Given the description of an element on the screen output the (x, y) to click on. 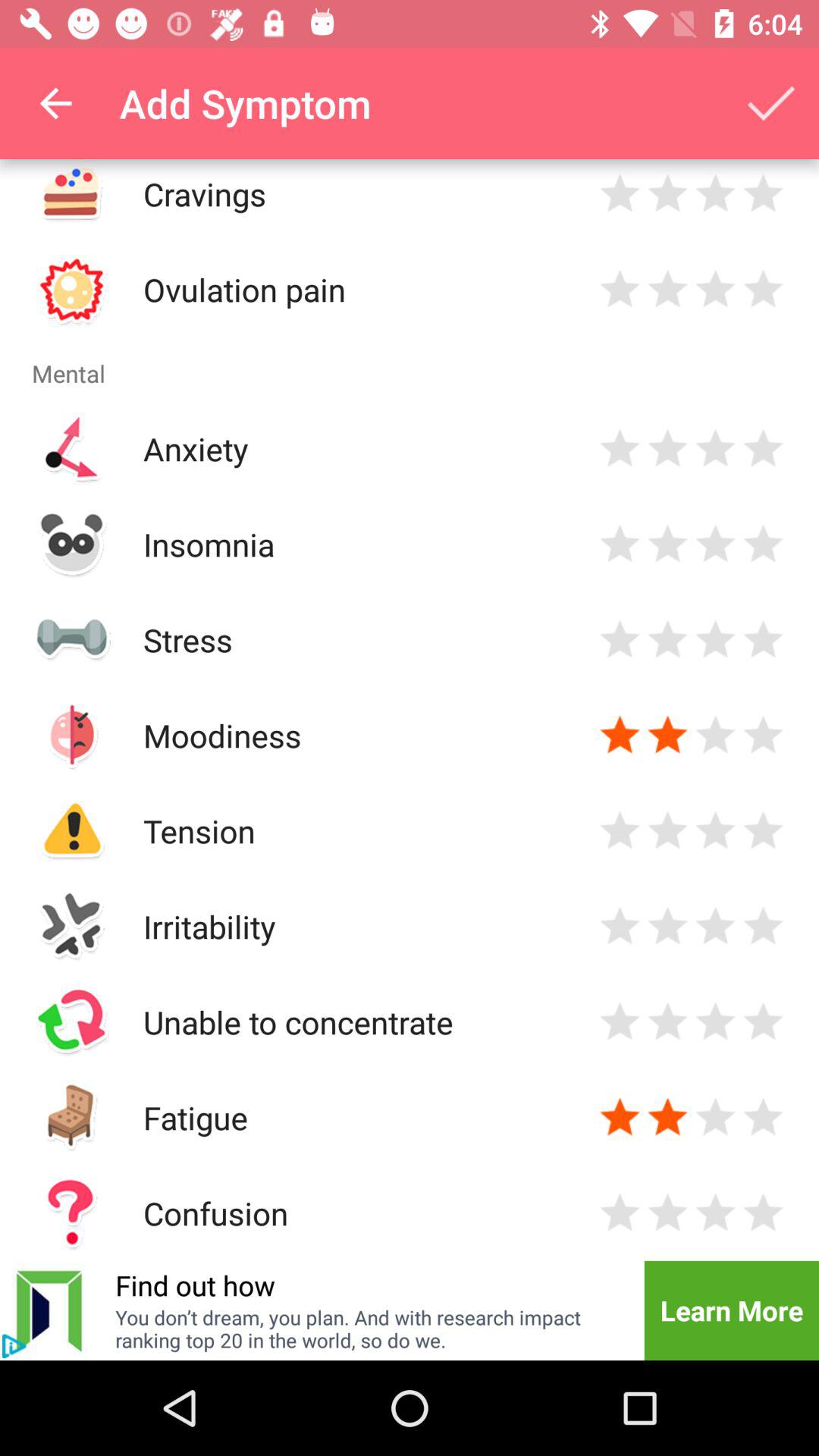
3 star rating (667, 926)
